Given the description of an element on the screen output the (x, y) to click on. 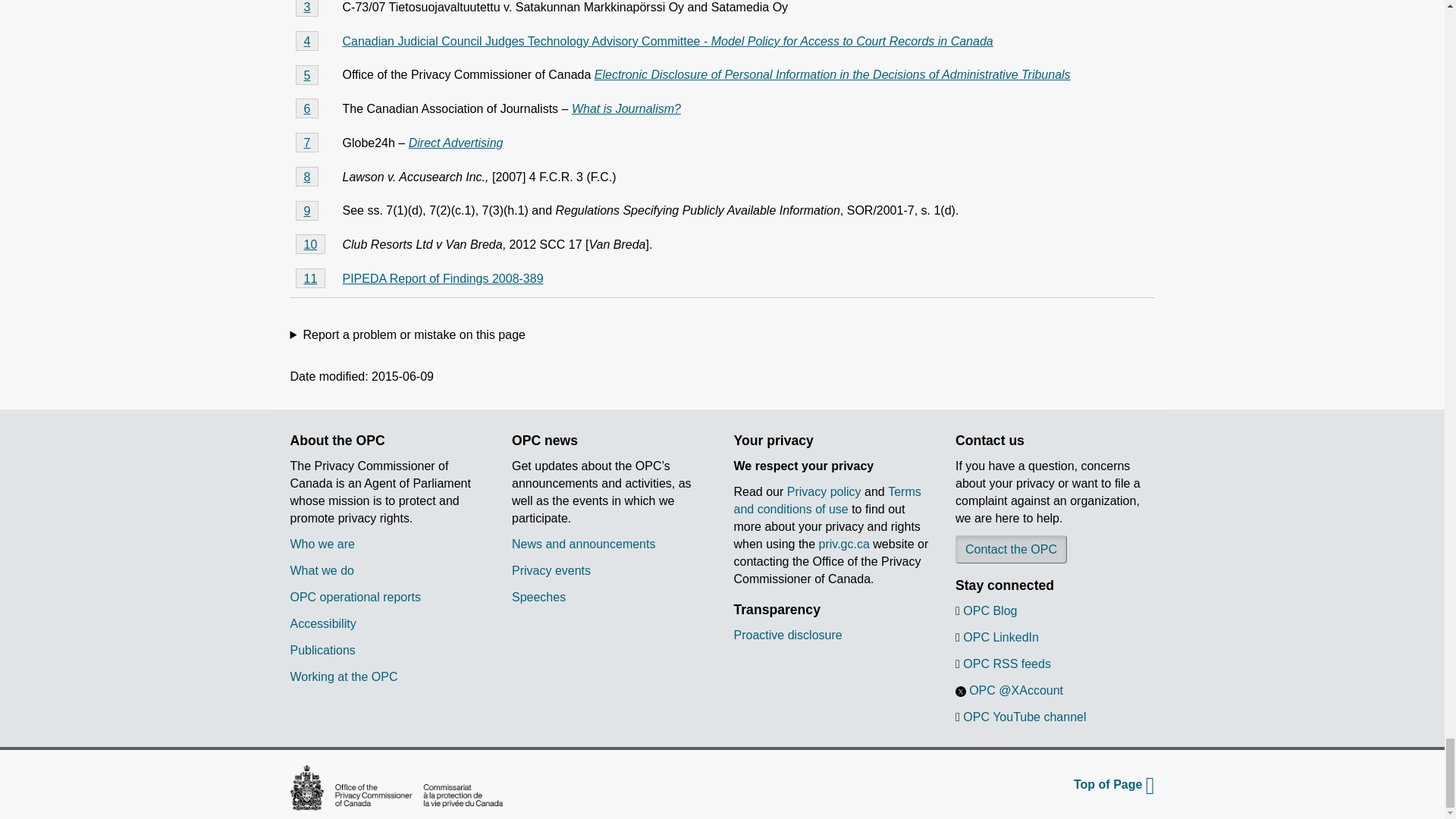
X Account (960, 691)
